Given the description of an element on the screen output the (x, y) to click on. 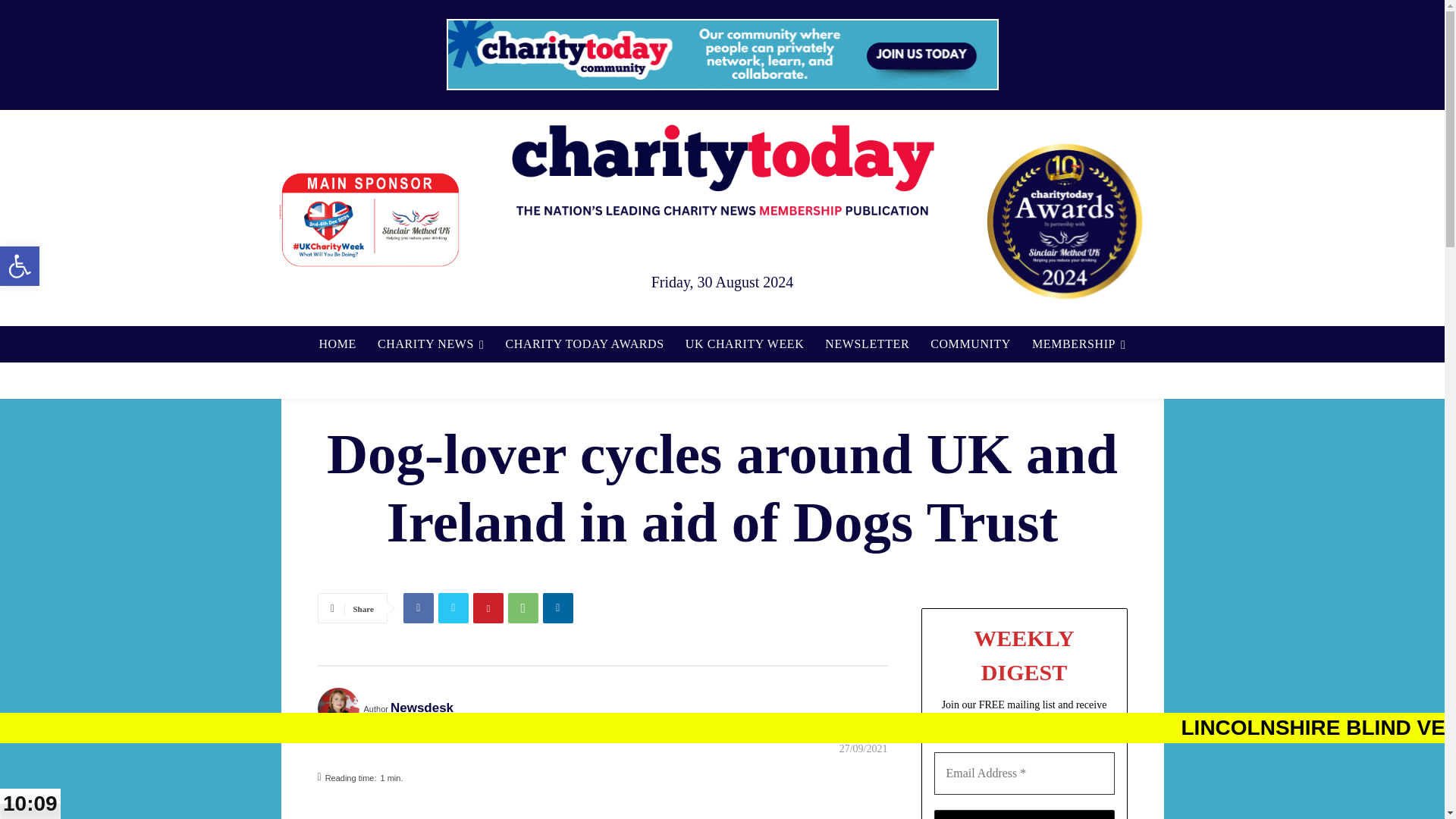
Charity Today Awards logo (1064, 221)
Join Newsletter (1024, 814)
Accessibility Tools (19, 265)
HOME (336, 343)
CHARITY NEWS (19, 265)
Accessibility Tools (430, 343)
